Given the description of an element on the screen output the (x, y) to click on. 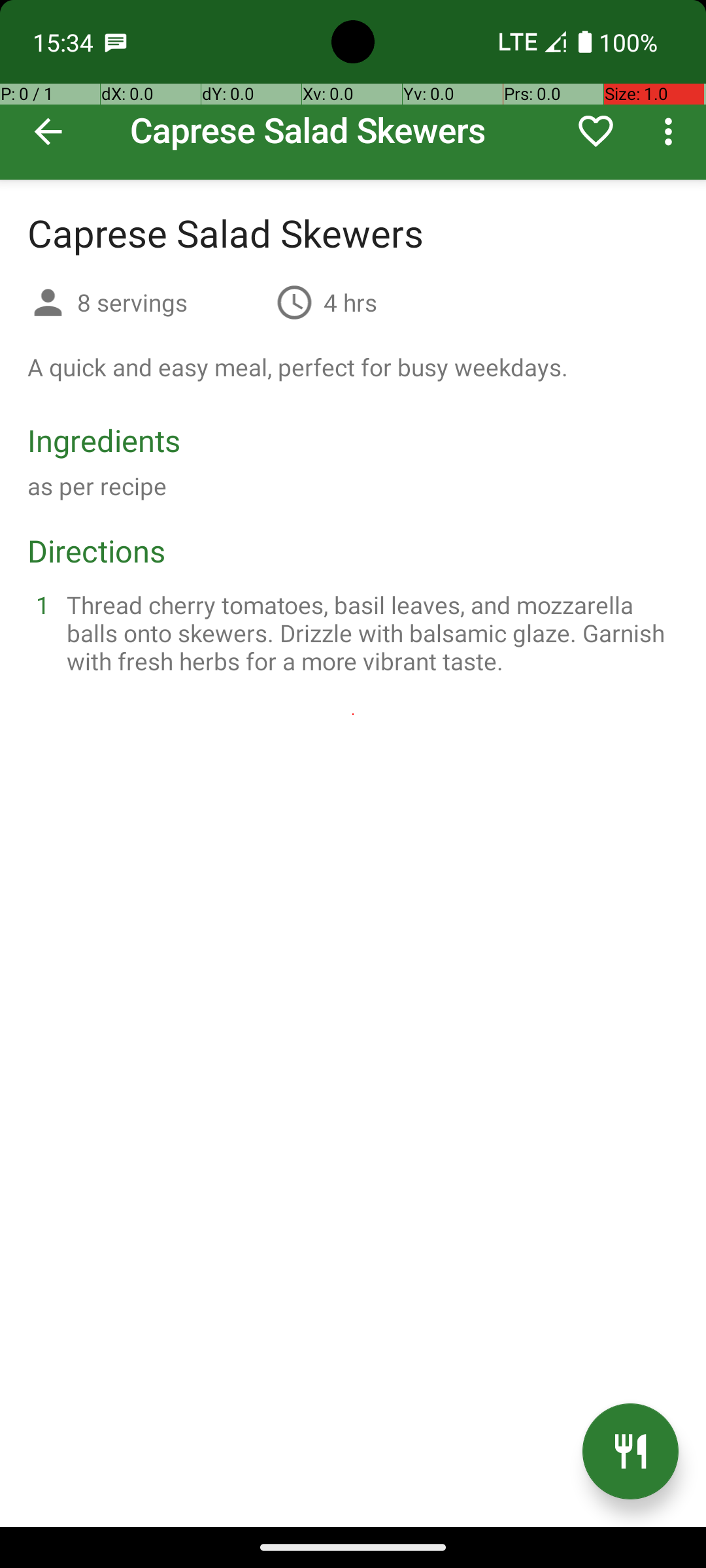
Thread cherry tomatoes, basil leaves, and mozzarella balls onto skewers. Drizzle with balsamic glaze. Garnish with fresh herbs for a more vibrant taste. Element type: android.widget.TextView (368, 632)
